Given the description of an element on the screen output the (x, y) to click on. 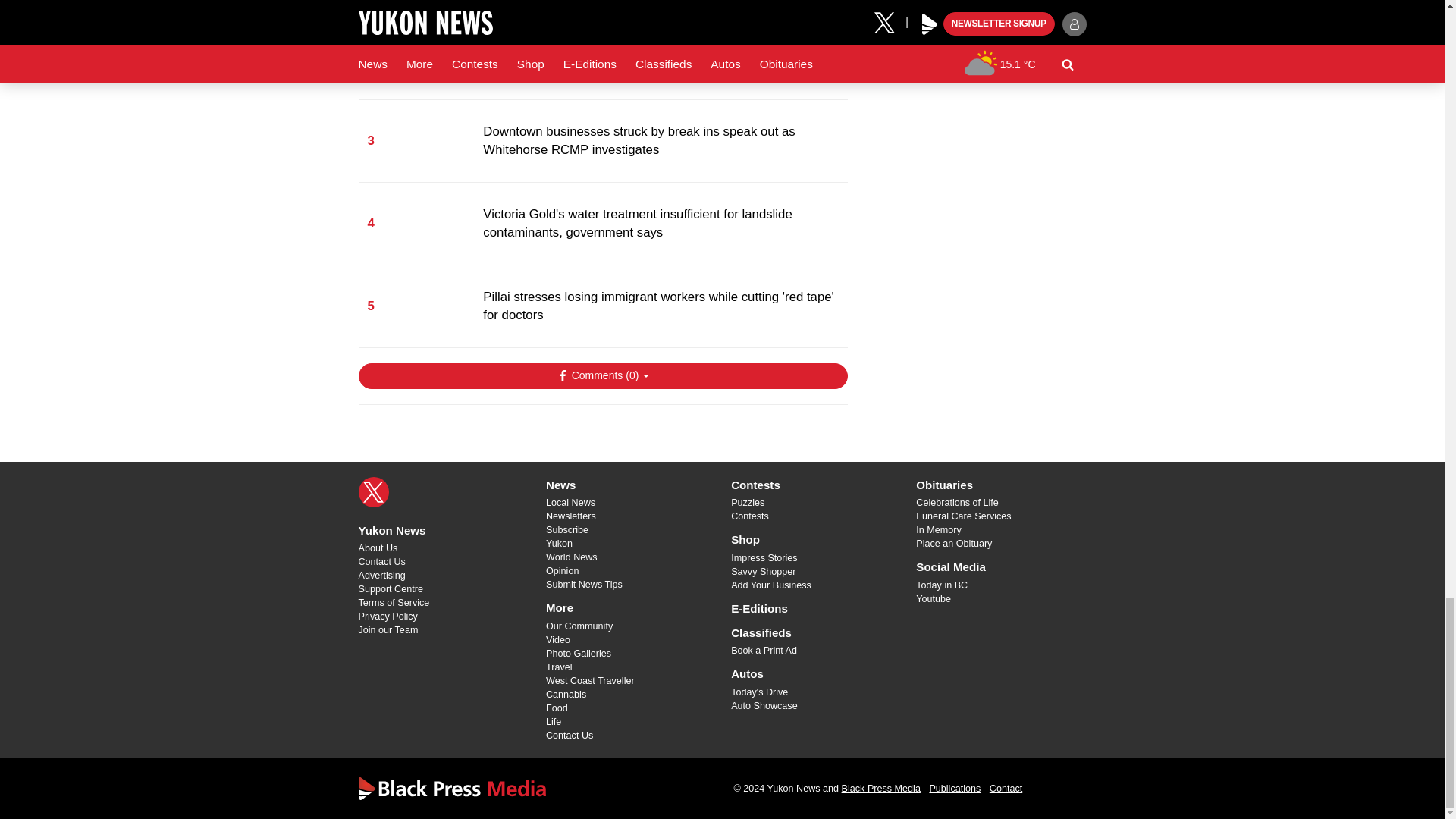
Show Comments (602, 376)
X (373, 491)
